Given the description of an element on the screen output the (x, y) to click on. 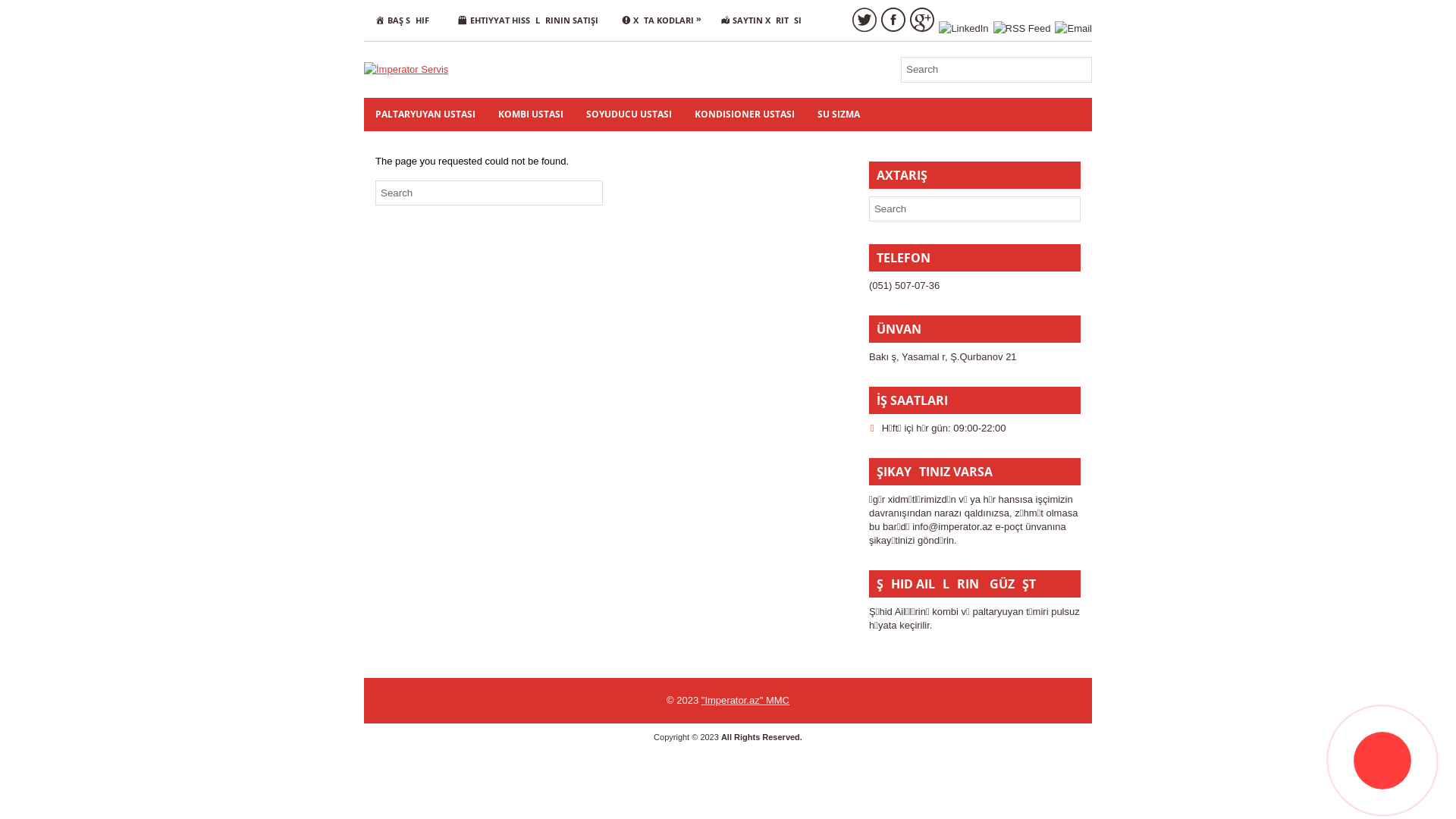
SU SIZMA Element type: text (838, 113)
"Imperator.az" MMC Element type: text (745, 700)
KONDISIONER USTASI Element type: text (744, 113)
SOYUDUCU USTASI Element type: text (628, 113)
Twitter Element type: hover (864, 19)
Type and hit enter Element type: hover (996, 69)
Email Element type: hover (1073, 28)
LinkedIn Element type: hover (963, 28)
Type and hit enter Element type: hover (488, 193)
Google Plus Element type: hover (922, 19)
Type and hit enter Element type: hover (974, 208)
KOMBI USTASI Element type: text (530, 113)
RSS Feed Element type: hover (1022, 28)
PALTARYUYAN USTASI Element type: text (425, 113)
Facebook Element type: hover (893, 19)
